Given the description of an element on the screen output the (x, y) to click on. 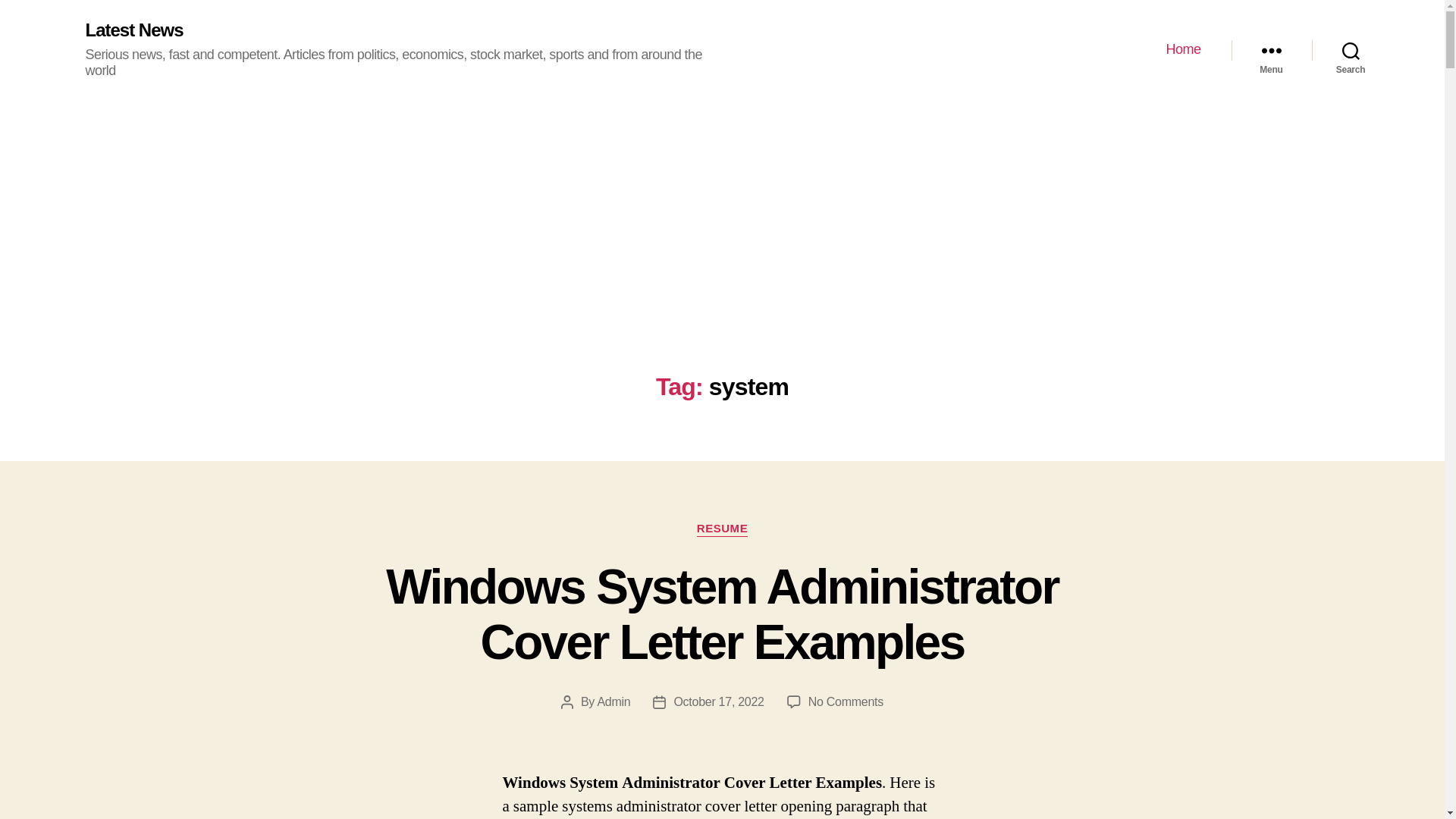
Windows System Administrator Cover Letter Examples (721, 614)
Menu (1271, 49)
October 17, 2022 (717, 701)
Search (1350, 49)
Admin (613, 701)
Latest News (133, 30)
RESUME (722, 529)
Home (1182, 49)
